Given the description of an element on the screen output the (x, y) to click on. 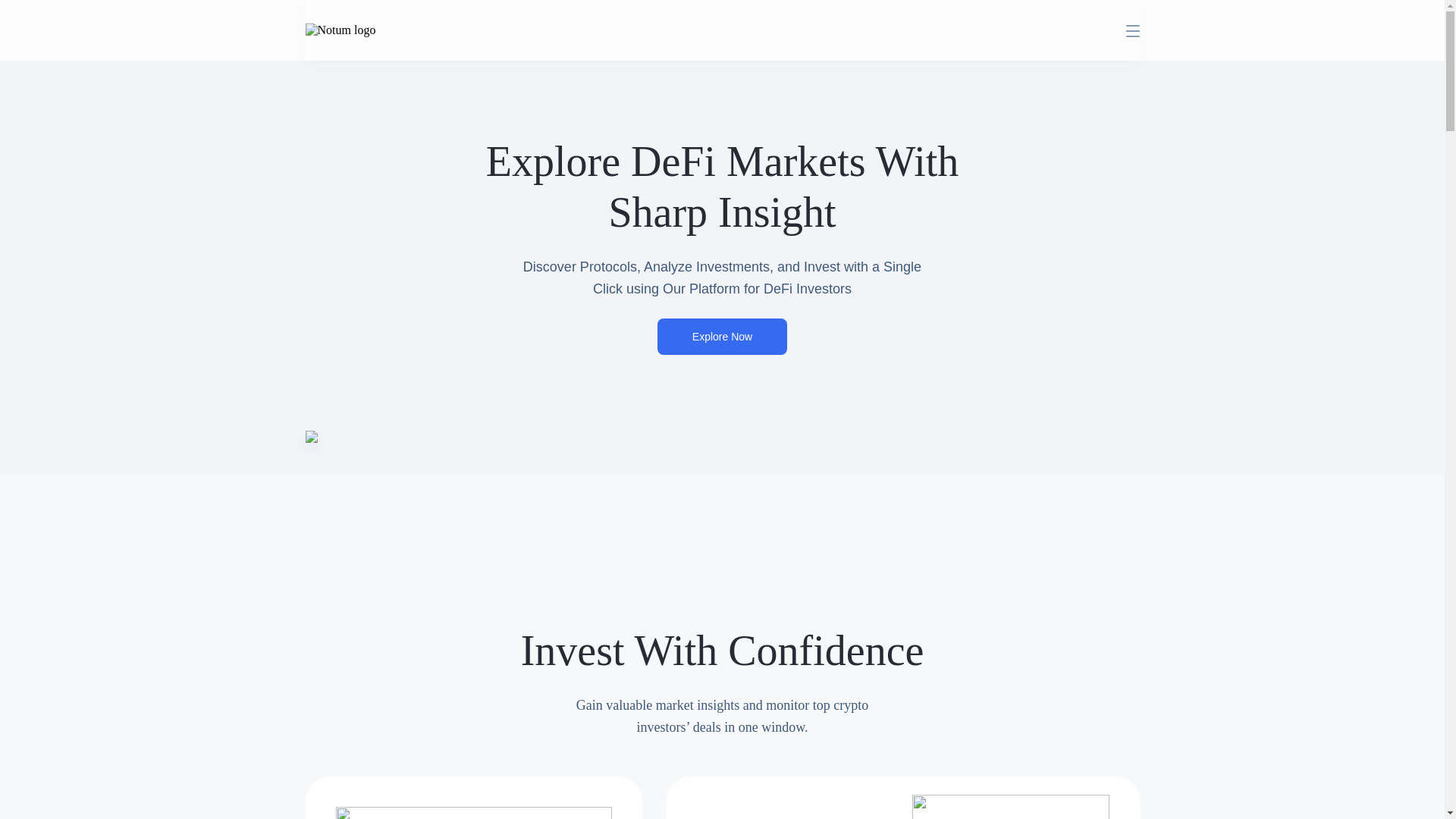
Explore Now (722, 336)
